Given the description of an element on the screen output the (x, y) to click on. 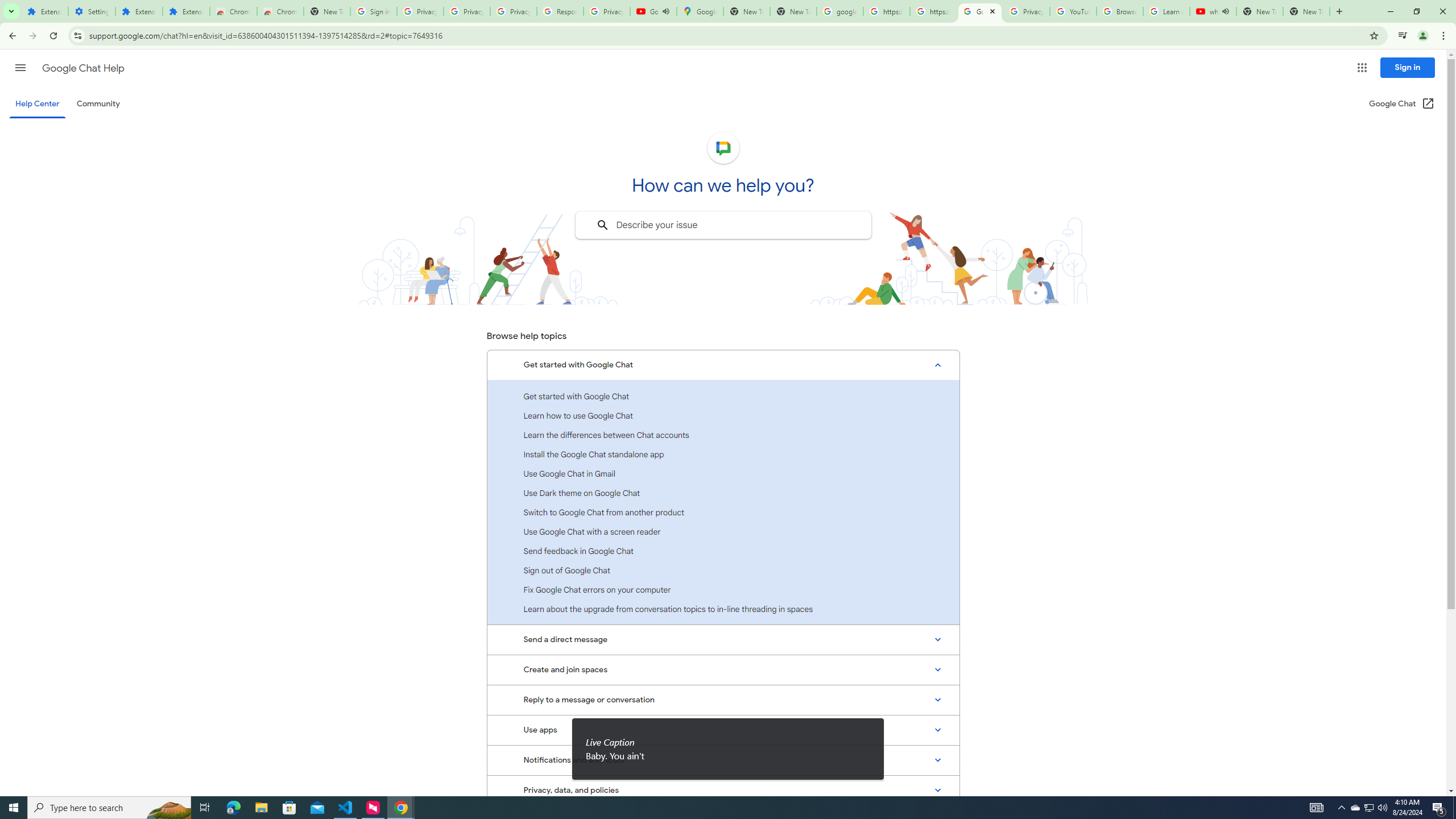
Notifications and shortcuts (722, 760)
Get started with Google Chat, Expanded list with 12 items (722, 365)
Extensions (186, 11)
Google Maps (699, 11)
Send feedback in Google Chat (722, 551)
Learn the differences between Chat accounts (722, 434)
Use Google Chat in Gmail (722, 473)
New Tab (1306, 11)
Google Chat Help (82, 68)
Get started with Google Chat (722, 396)
